Given the description of an element on the screen output the (x, y) to click on. 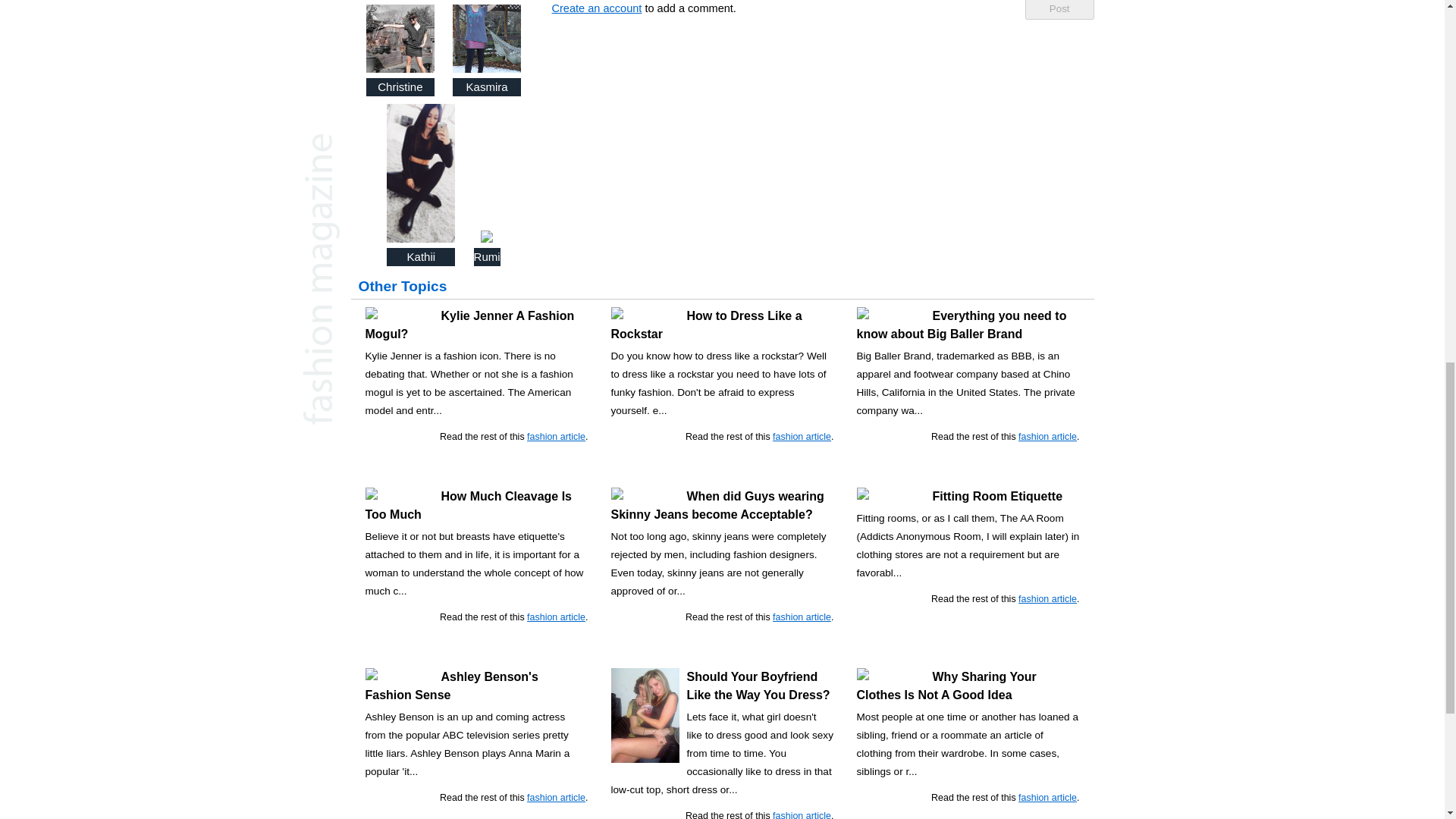
Post (1059, 9)
fashion article (556, 436)
Create an account (596, 8)
